Given the description of an element on the screen output the (x, y) to click on. 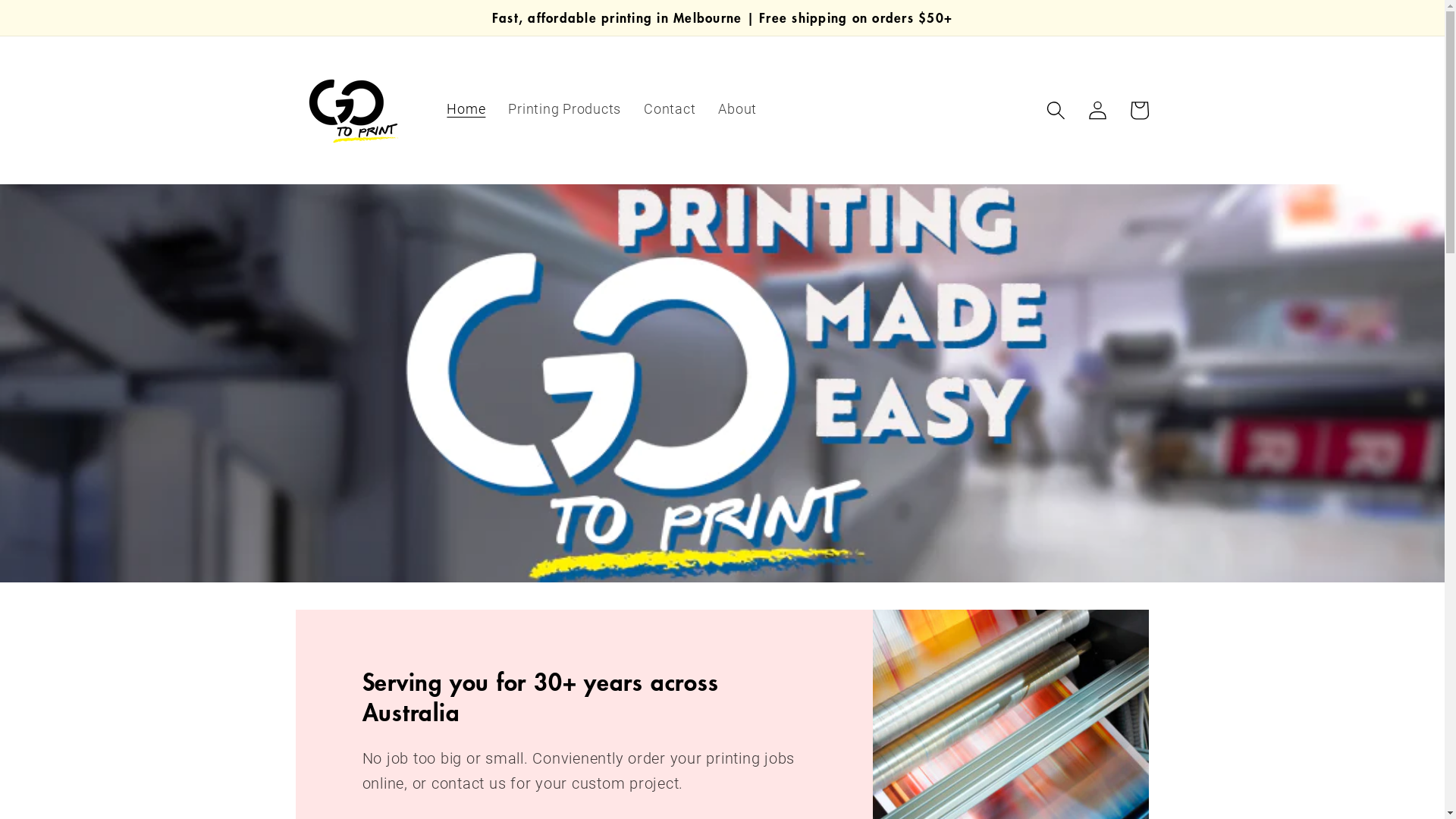
Log in Element type: text (1097, 110)
Cart Element type: text (1139, 110)
Contact Element type: text (669, 109)
About Element type: text (737, 109)
Home Element type: text (465, 109)
Printing Products Element type: text (564, 109)
